Given the description of an element on the screen output the (x, y) to click on. 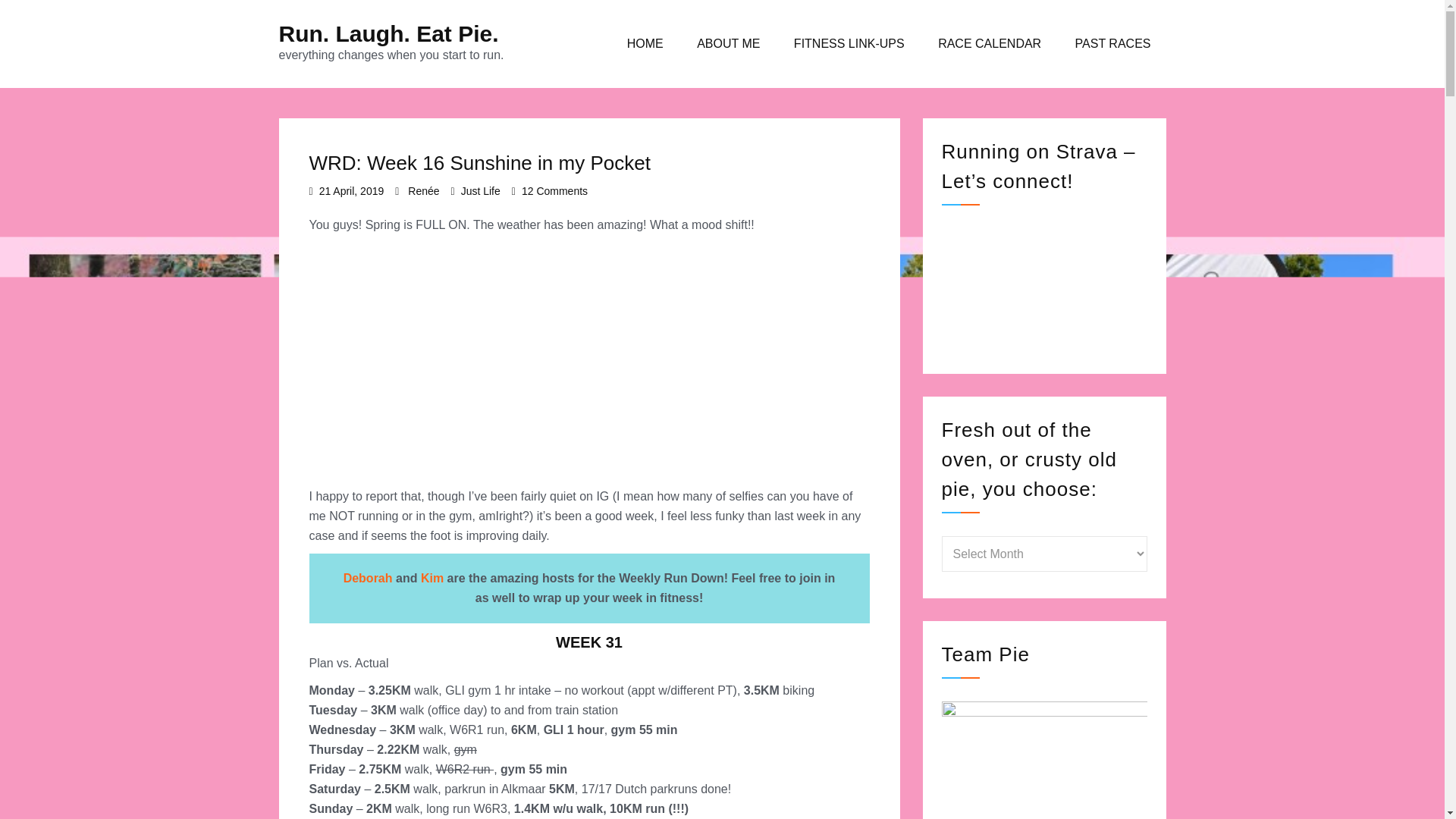
RACE CALENDAR (990, 43)
ABOUT ME (727, 43)
Deborah (368, 577)
FITNESS LINK-UPS (849, 43)
Run. Laugh. Eat Pie. (389, 33)
PAST RACES (1112, 43)
21 April, 2019 (351, 191)
Kim (432, 577)
Just Life (554, 191)
